Given the description of an element on the screen output the (x, y) to click on. 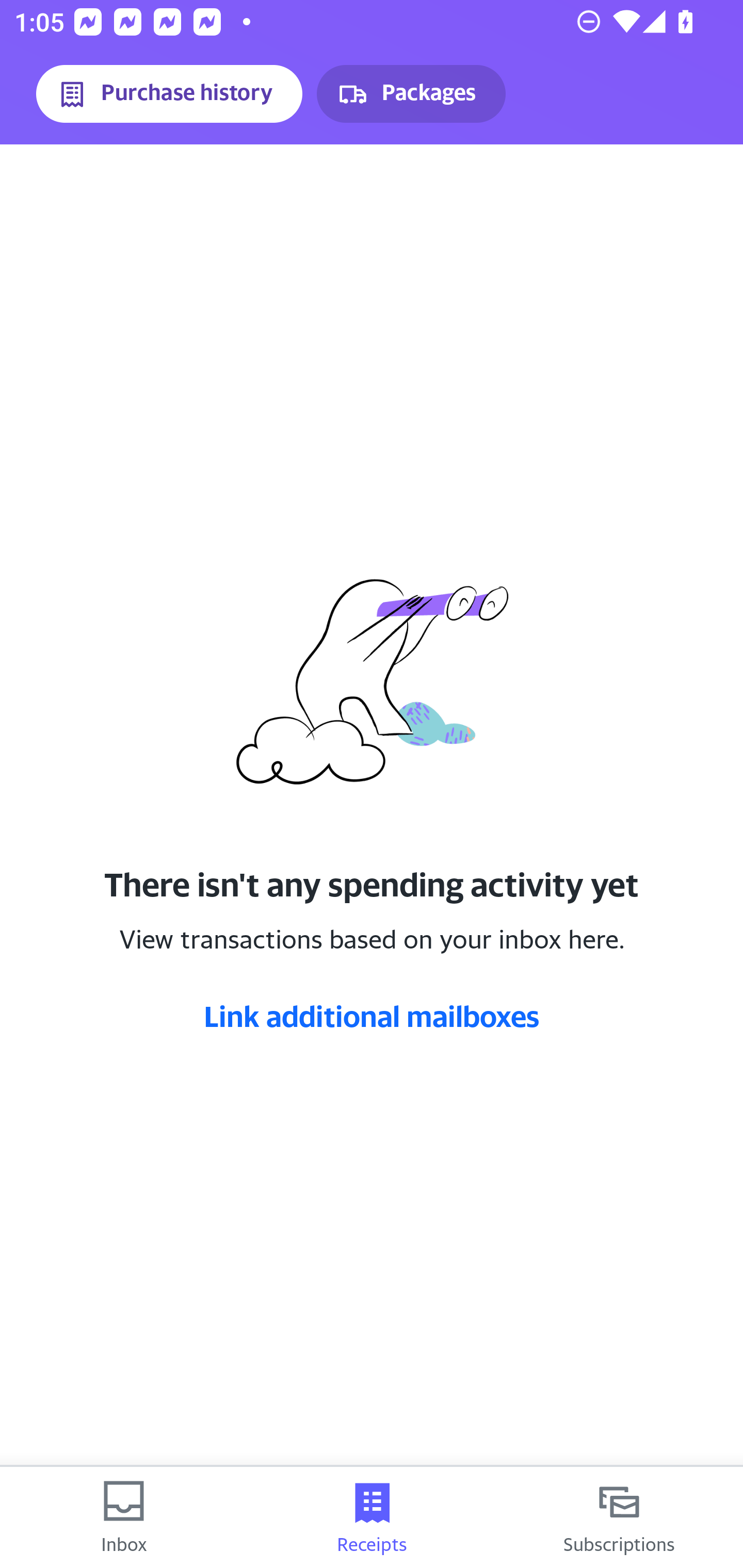
Packages (410, 93)
Link additional mailboxes (371, 1015)
Inbox (123, 1517)
Receipts (371, 1517)
Subscriptions (619, 1517)
